Given the description of an element on the screen output the (x, y) to click on. 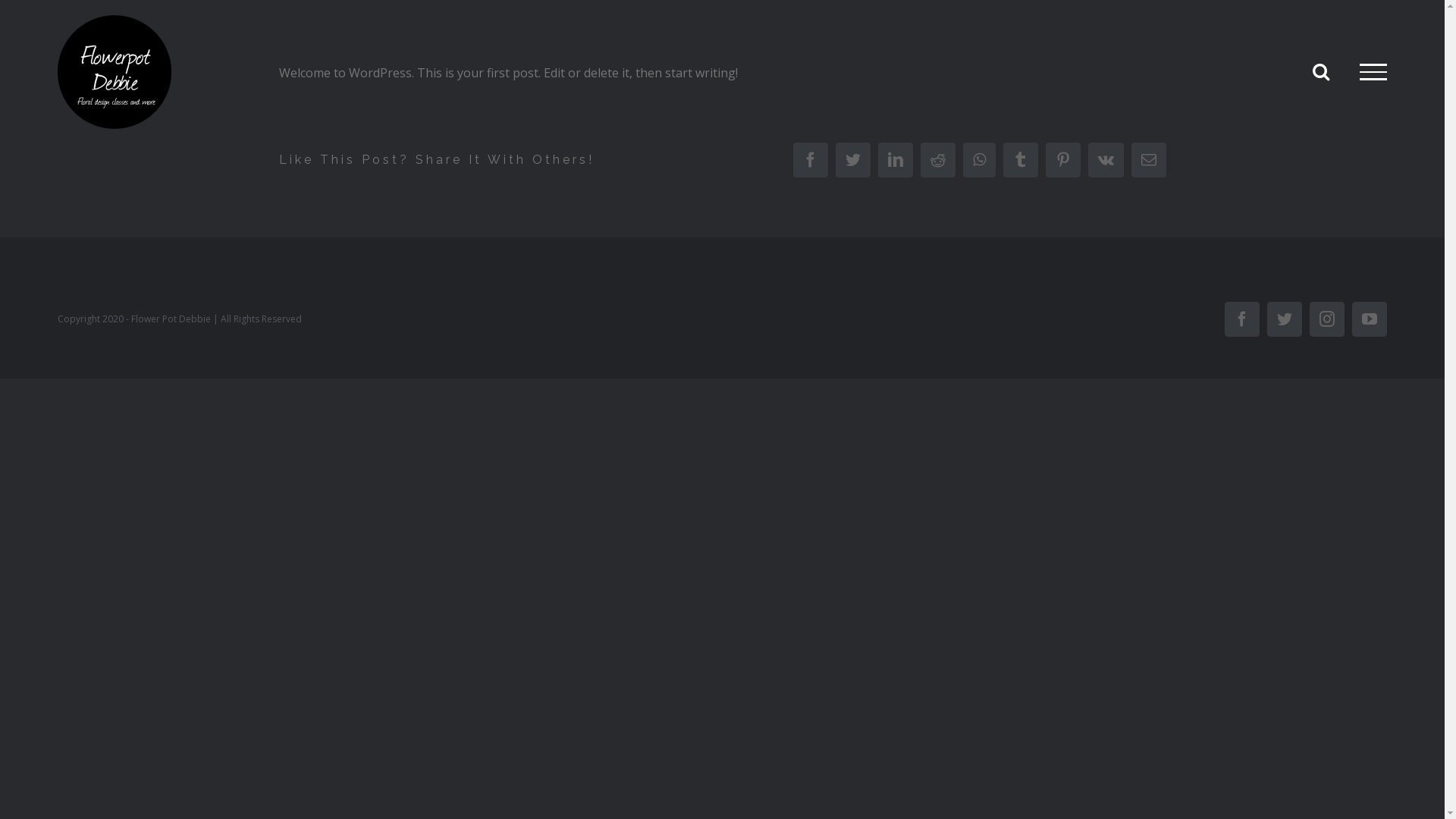
whatsapp Element type: text (979, 159)
facebook Element type: text (1241, 318)
facebook Element type: text (810, 159)
vk Element type: text (1105, 159)
linkedin Element type: text (895, 159)
youtube Element type: text (1369, 318)
twitter Element type: text (852, 159)
reddit Element type: text (937, 159)
twitter Element type: text (1284, 318)
tumblr Element type: text (1019, 159)
pinterest Element type: text (1061, 159)
Email Element type: text (1148, 159)
instagram Element type: text (1326, 318)
